Given the description of an element on the screen output the (x, y) to click on. 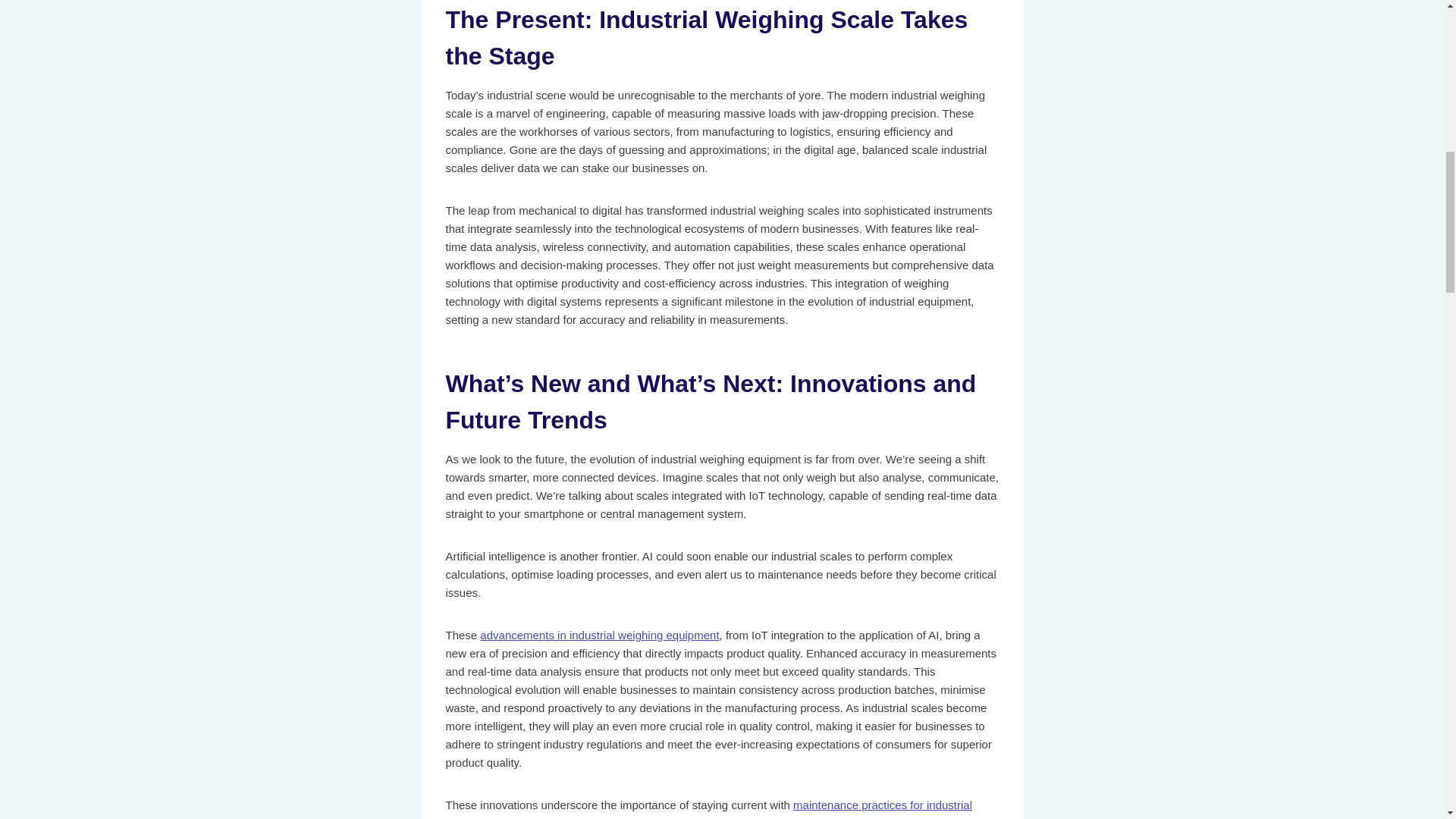
maintenance practices for industrial weighing equipment (708, 808)
advancements in industrial weighing equipment (599, 634)
